Given the description of an element on the screen output the (x, y) to click on. 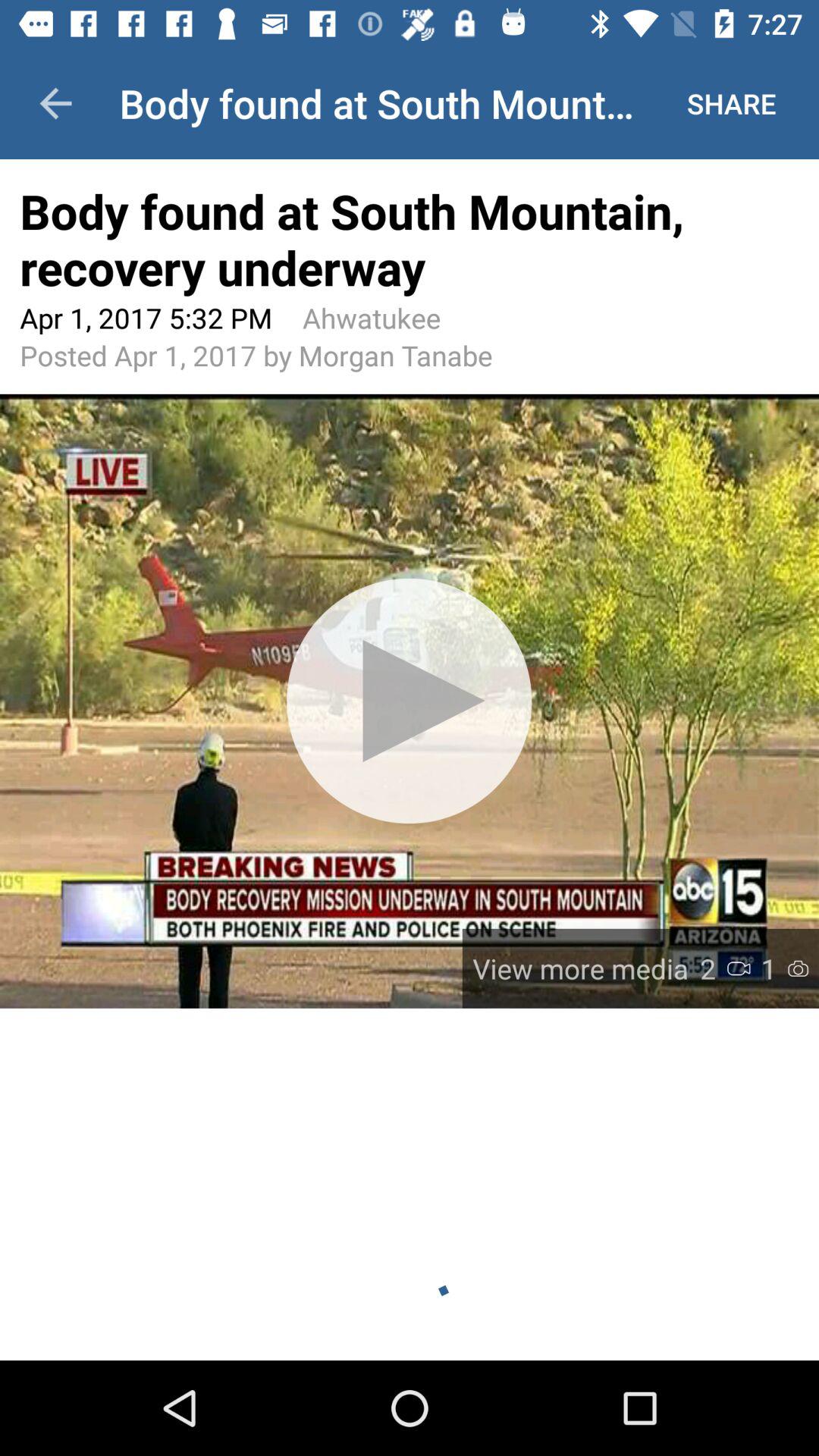
press share icon (731, 103)
